Given the description of an element on the screen output the (x, y) to click on. 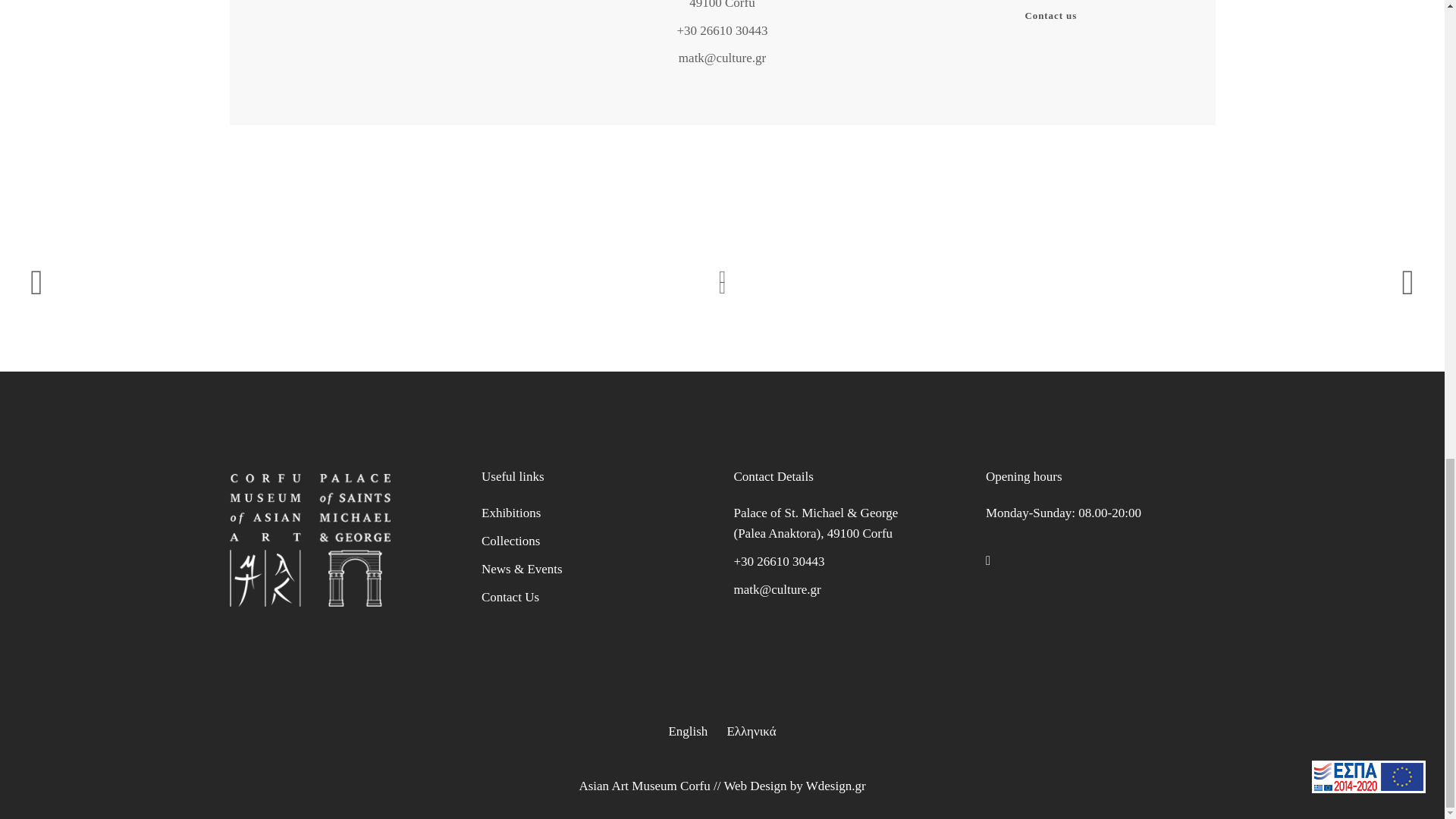
Web Design Corfu (836, 785)
Web Design Corfu (754, 785)
